Given the description of an element on the screen output the (x, y) to click on. 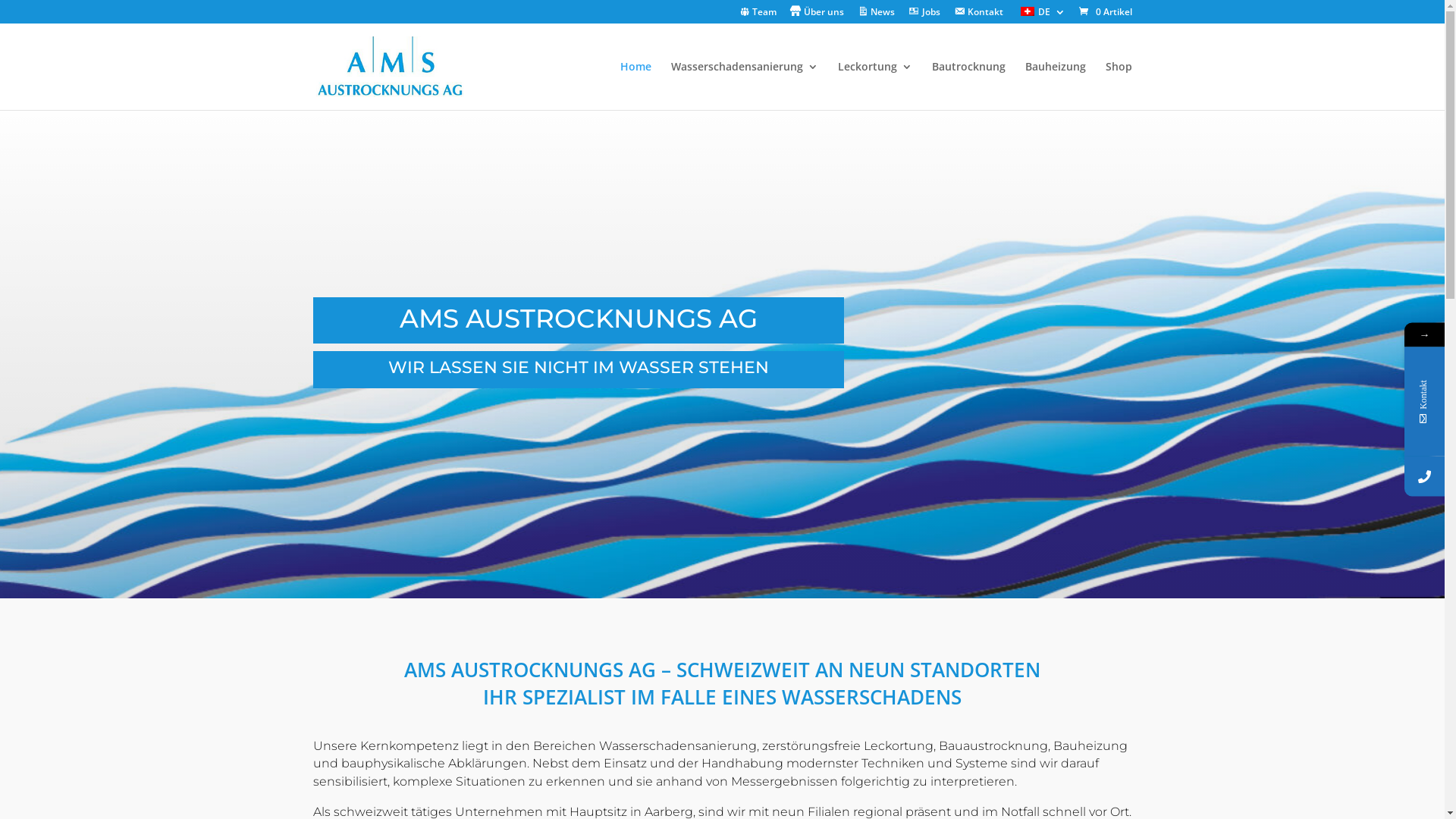
DE Element type: text (1040, 15)
Shop Element type: text (1118, 85)
Bauheizung Element type: text (1055, 85)
Team Element type: text (758, 15)
German Element type: hover (1027, 10)
Home Element type: text (635, 85)
News Element type: text (876, 15)
Leckortung Element type: text (874, 85)
0 Artikel Element type: text (1104, 11)
Jobs Element type: text (924, 15)
Wasserschadensanierung Element type: text (743, 85)
Kontakt Element type: text (978, 15)
Bautrocknung Element type: text (967, 85)
Telefon Element type: hover (1424, 476)
